Given the description of an element on the screen output the (x, y) to click on. 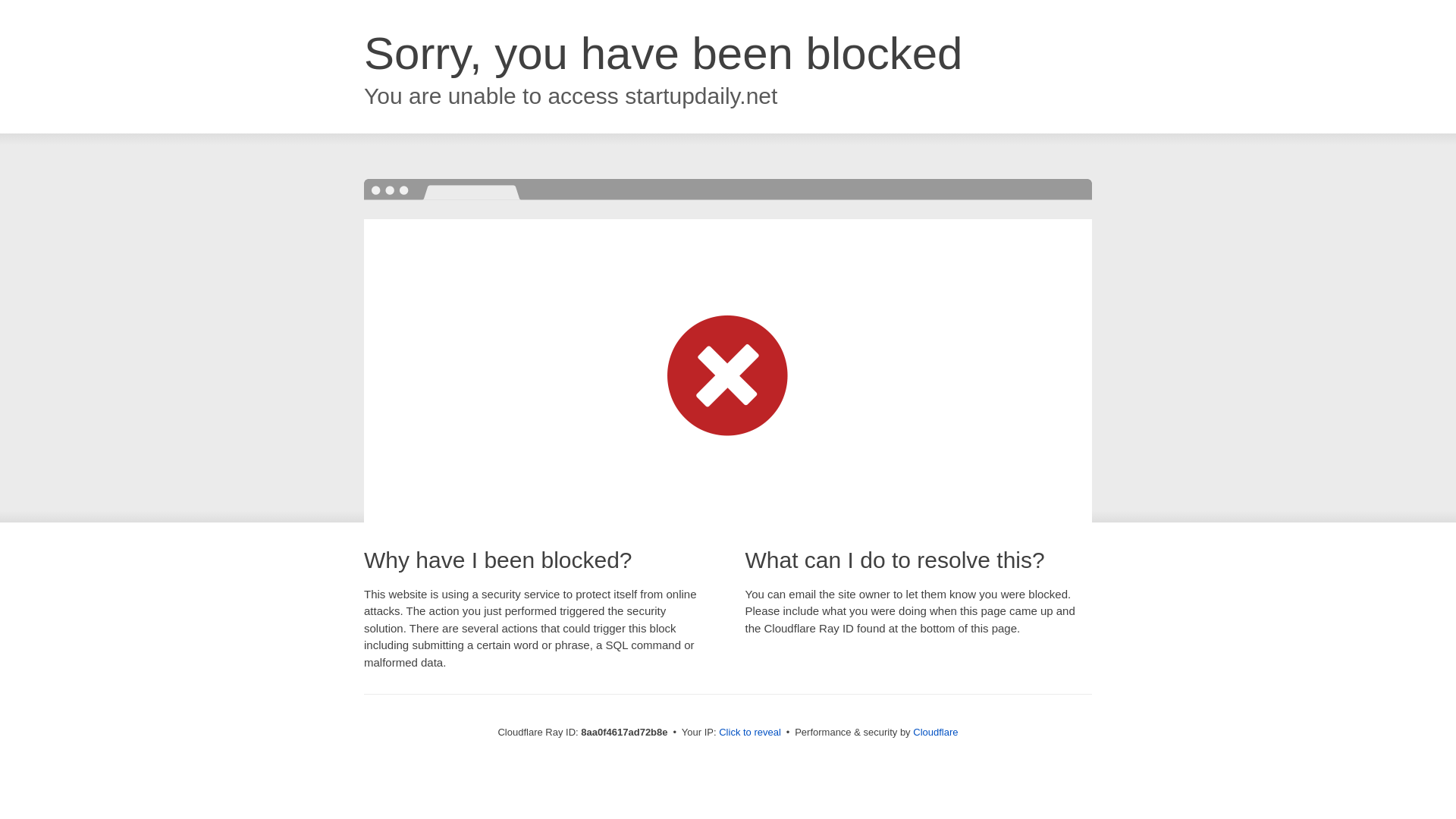
Click to reveal (749, 732)
Cloudflare (935, 731)
